Given the description of an element on the screen output the (x, y) to click on. 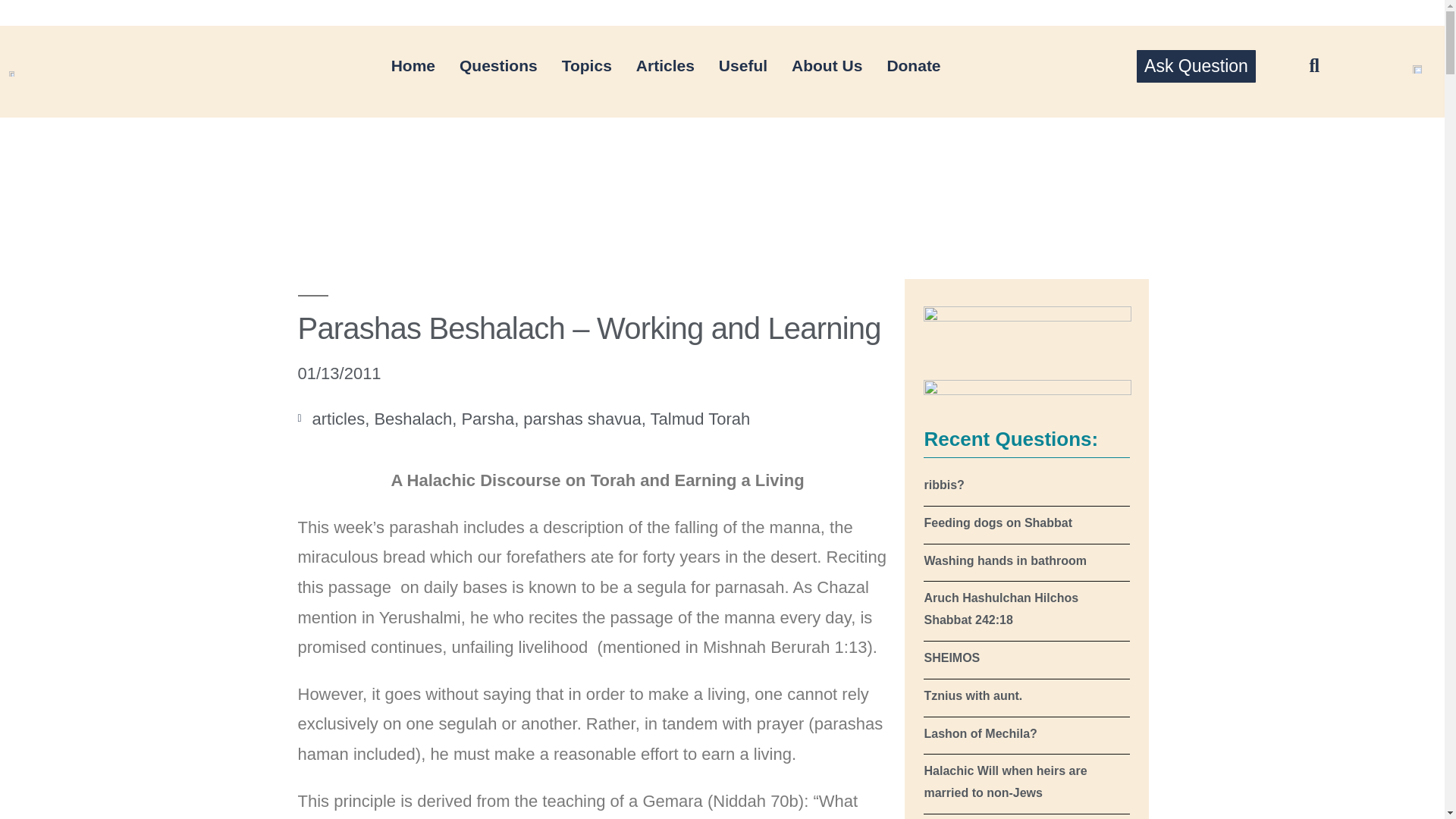
Beshalach (412, 418)
Questions (498, 65)
Useful (742, 65)
Talmud Torah (700, 418)
Articles (665, 65)
Home (412, 65)
articles (339, 418)
Topics (587, 65)
About Us (826, 65)
Parsha (487, 418)
